Given the description of an element on the screen output the (x, y) to click on. 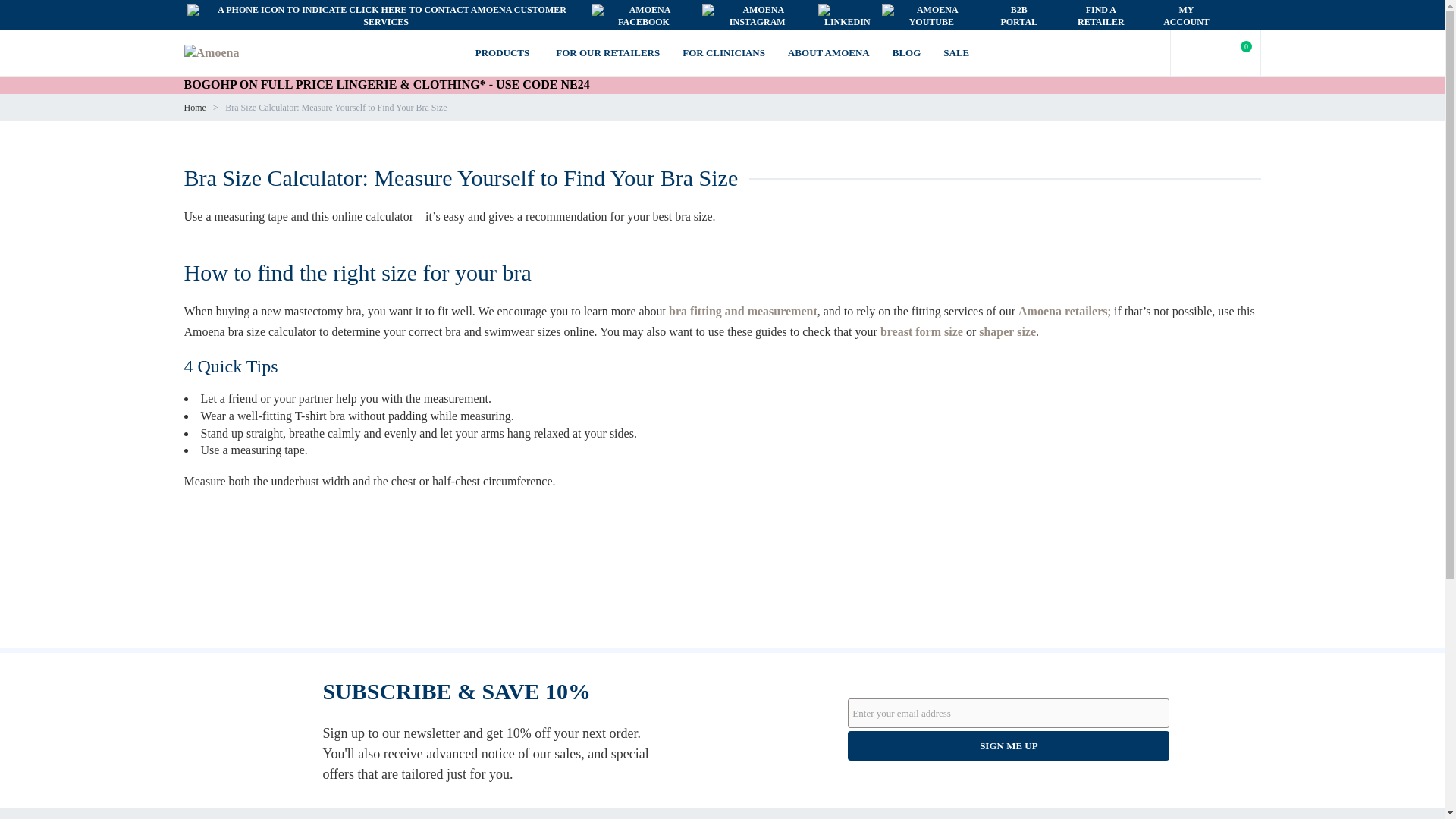
Amoena (210, 53)
Amoena Facebook UK (644, 15)
Amoena Product Groups (504, 53)
FIND A RETAILER (1100, 15)
Amoena Instagram UK (756, 15)
LinkedIn (847, 15)
Amoena YouTube (931, 15)
Amoena Retailers (1100, 15)
Call us on 0330 818 6784 (385, 15)
PRODUCTS (504, 53)
